Given the description of an element on the screen output the (x, y) to click on. 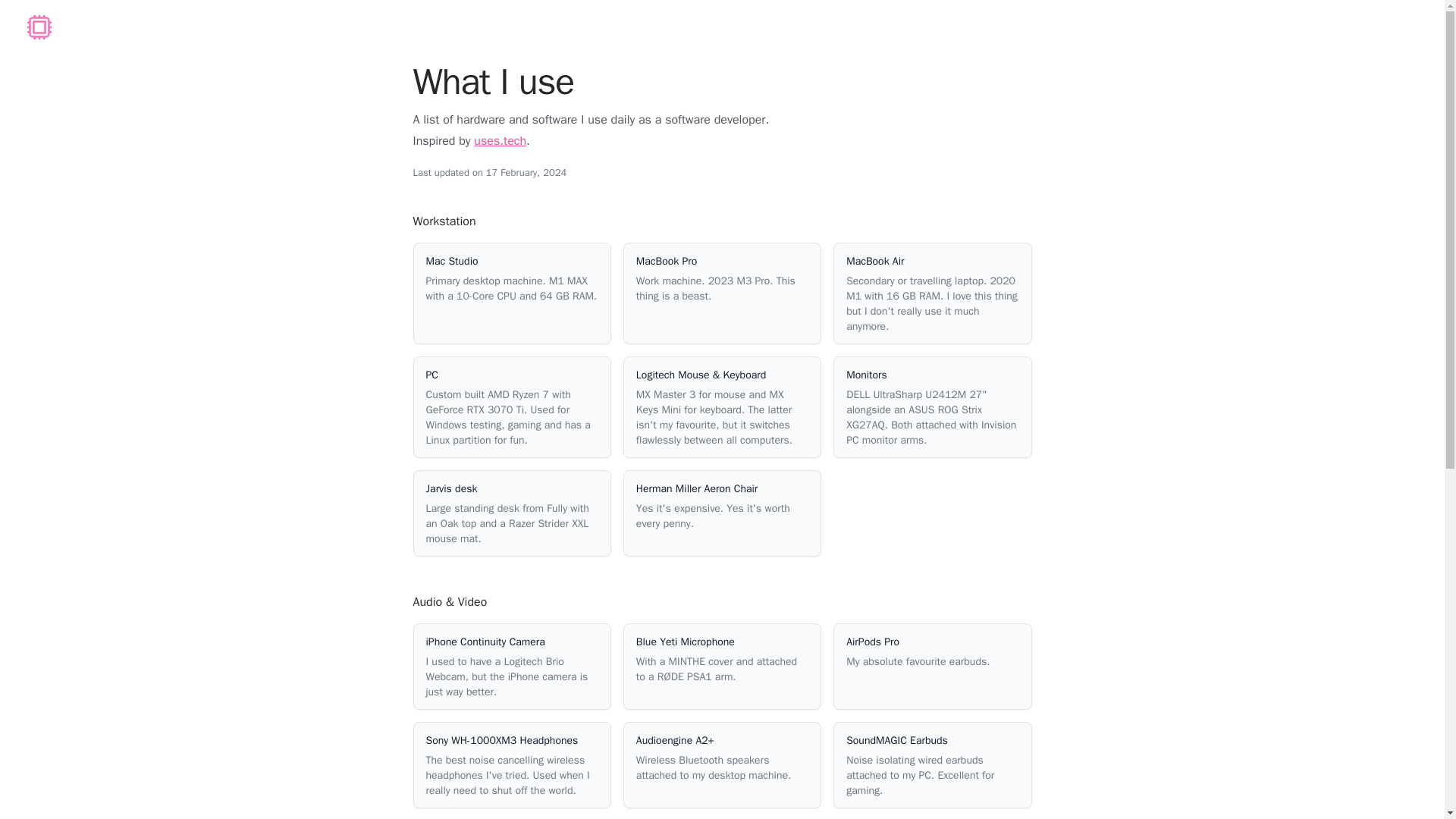
Workstation (444, 221)
Visit homepage (39, 27)
uses.tech (499, 140)
